Given the description of an element on the screen output the (x, y) to click on. 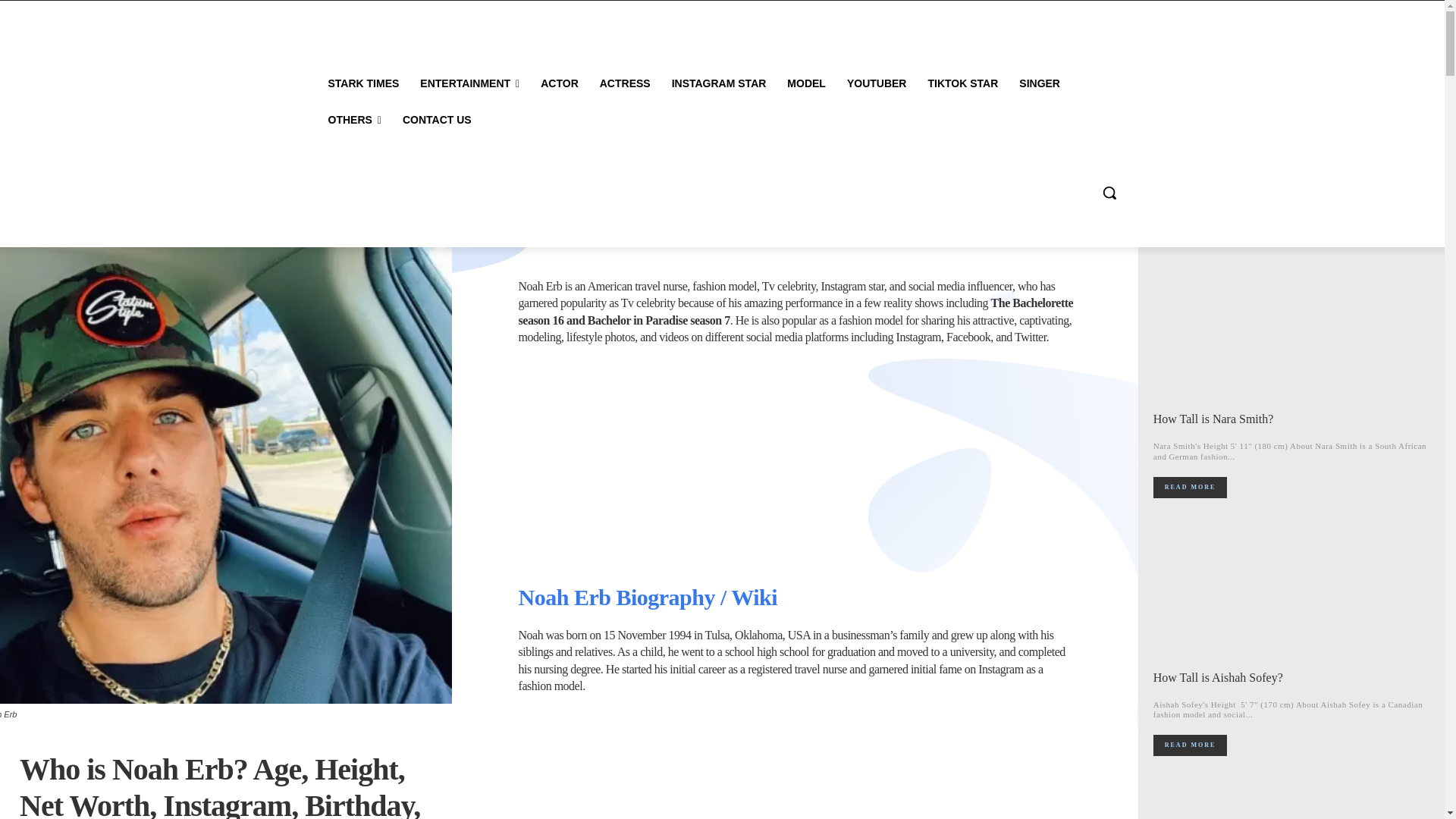
ENTERTAINMENT (469, 83)
STARK TIMES (363, 83)
